Given the description of an element on the screen output the (x, y) to click on. 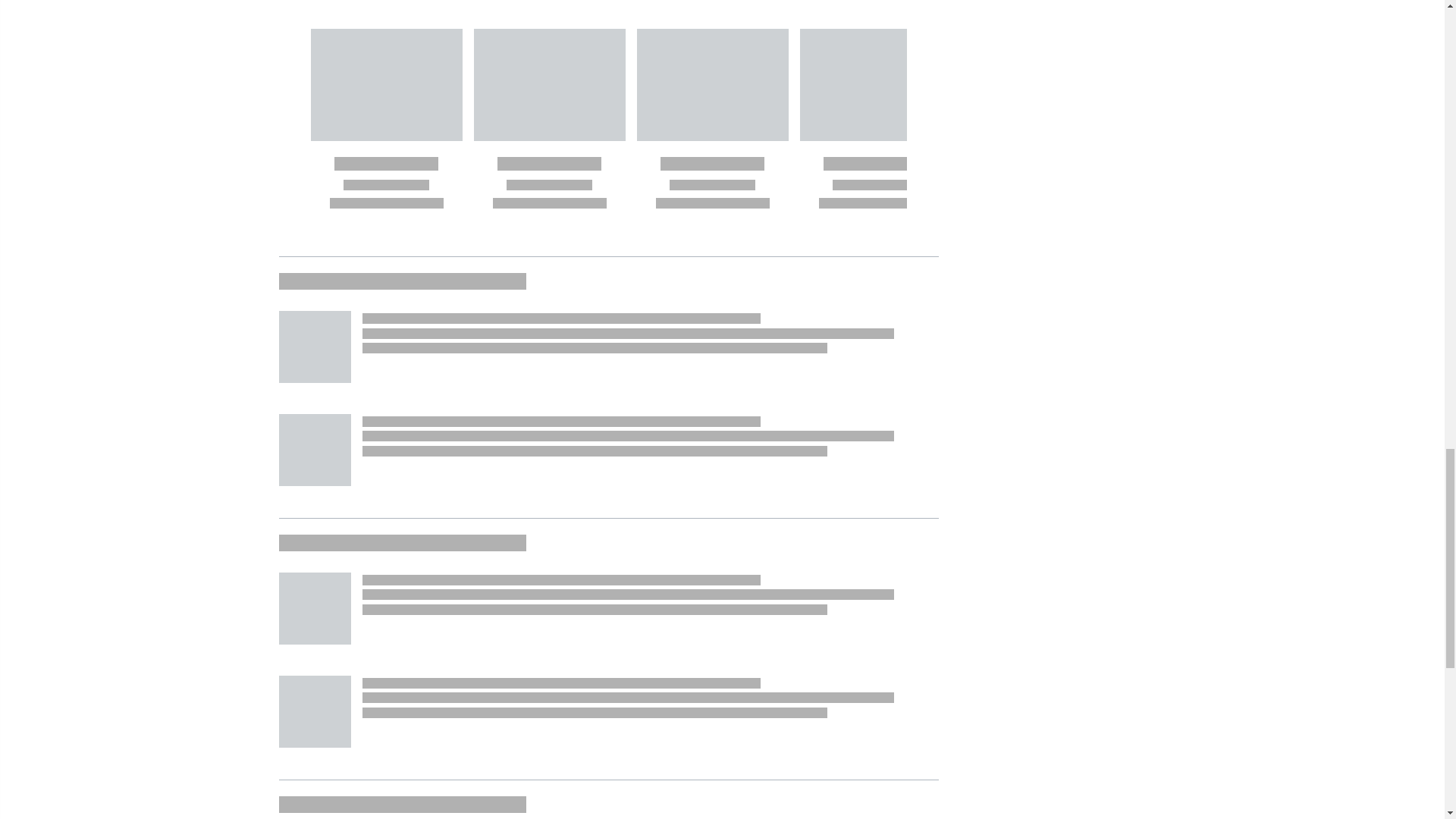
Placeholder (314, 450)
Placeholder (314, 608)
Placeholder (314, 711)
Placeholder (314, 347)
